Given the description of an element on the screen output the (x, y) to click on. 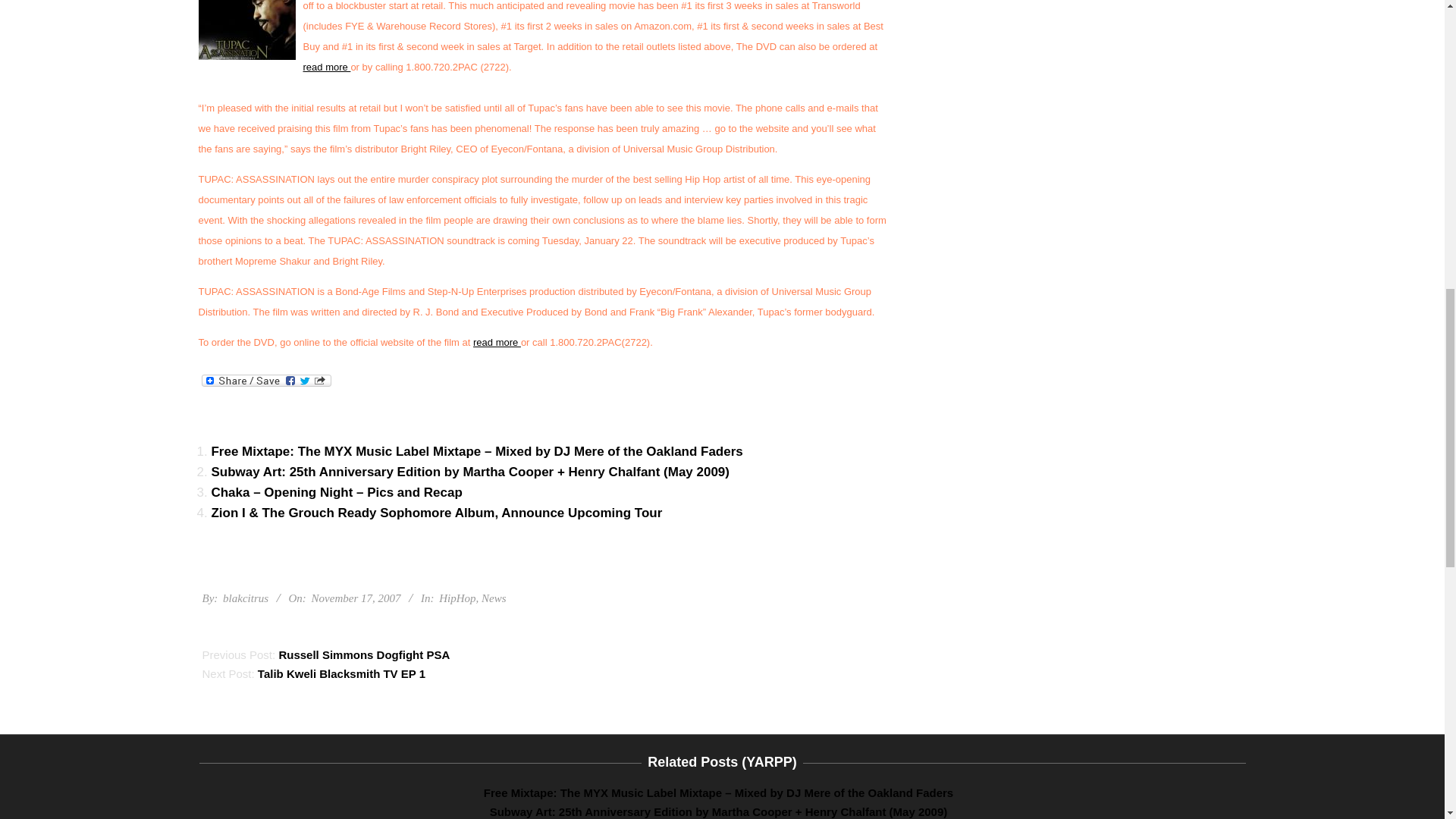
Russell Simmons Dogfight PSA (363, 654)
Talib Kweli Blacksmith TV EP 1 (341, 673)
HipHop (457, 598)
blakcitrus (244, 598)
read more (497, 342)
News (493, 598)
read more (326, 66)
